Given the description of an element on the screen output the (x, y) to click on. 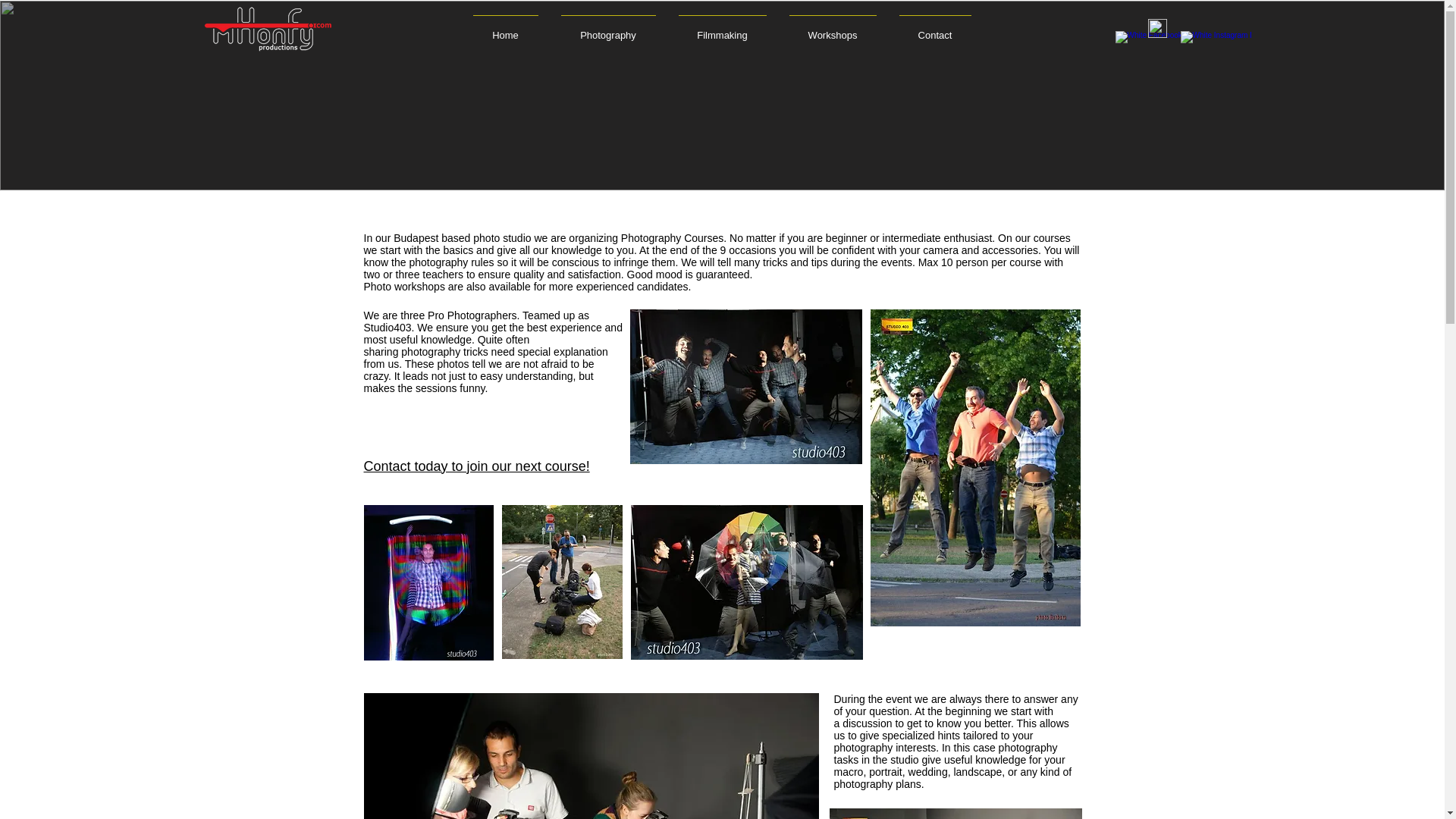
Contact today to join our next course! (476, 467)
Filmmaking (721, 28)
Home (504, 28)
Workshops (832, 28)
Photography (607, 28)
Contact (933, 28)
